Given the description of an element on the screen output the (x, y) to click on. 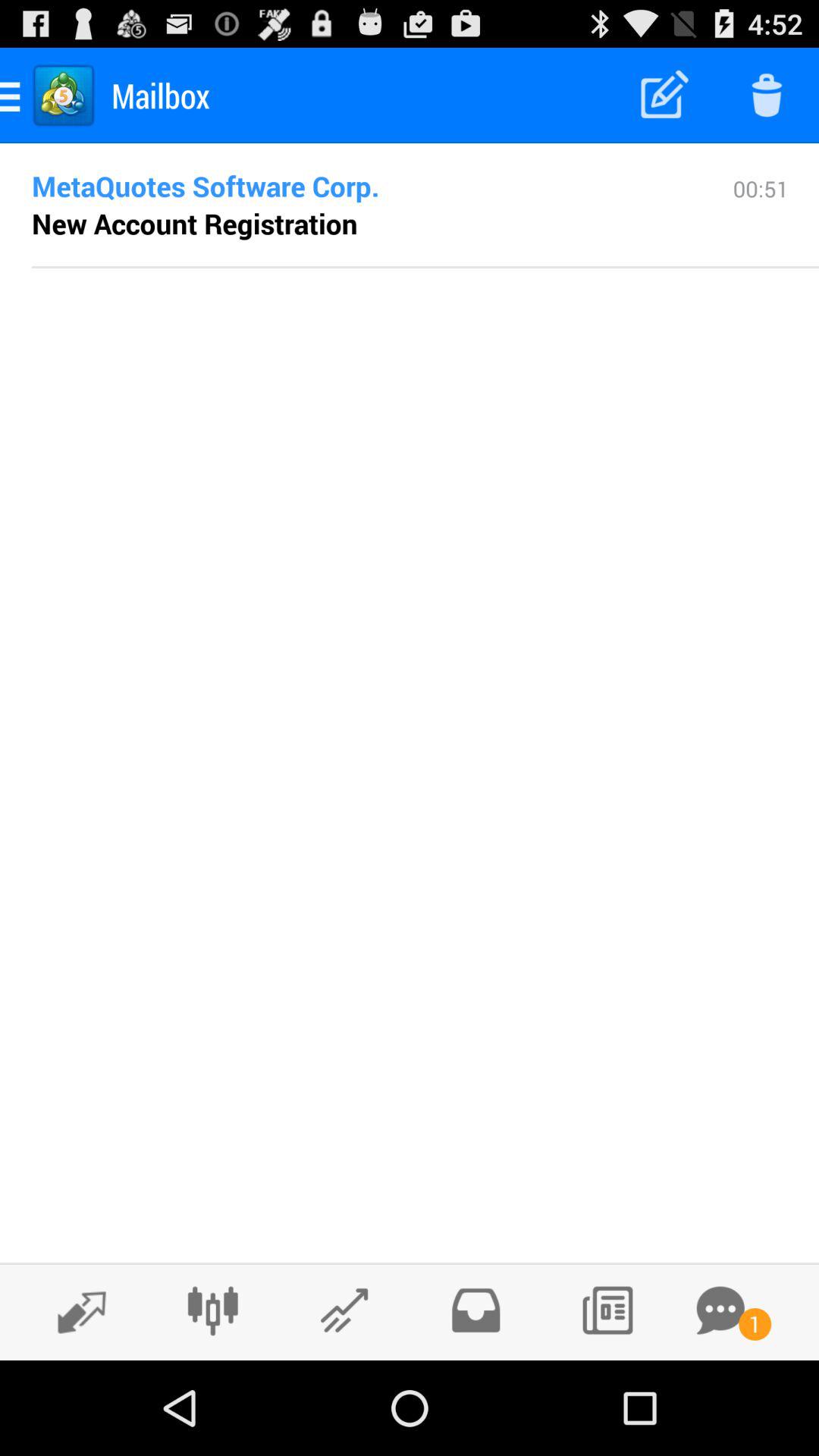
go to exchange (73, 1311)
